Given the description of an element on the screen output the (x, y) to click on. 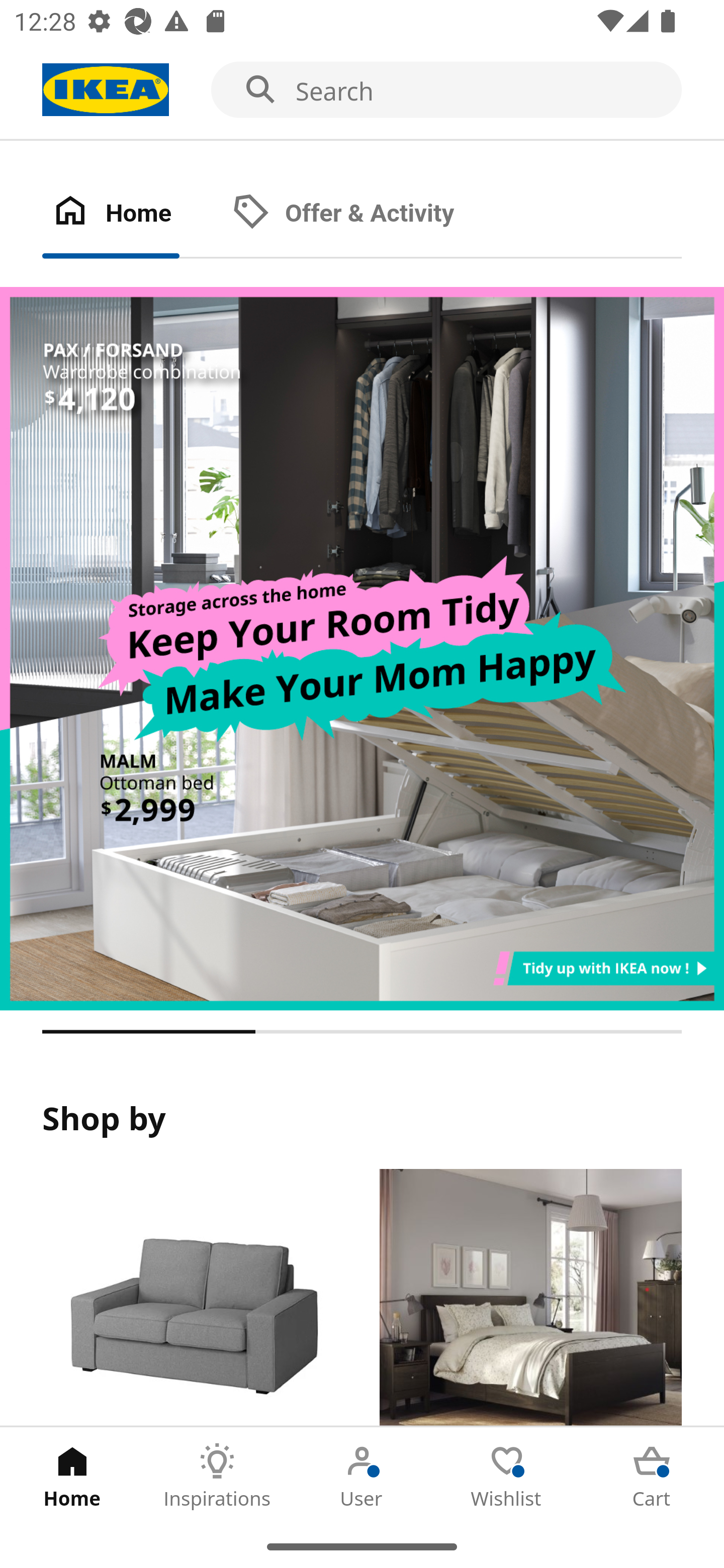
Search (361, 90)
Home
Tab 1 of 2 (131, 213)
Offer & Activity
Tab 2 of 2 (363, 213)
Products (192, 1297)
Rooms (530, 1297)
Home
Tab 1 of 5 (72, 1476)
Inspirations
Tab 2 of 5 (216, 1476)
User
Tab 3 of 5 (361, 1476)
Wishlist
Tab 4 of 5 (506, 1476)
Cart
Tab 5 of 5 (651, 1476)
